Given the description of an element on the screen output the (x, y) to click on. 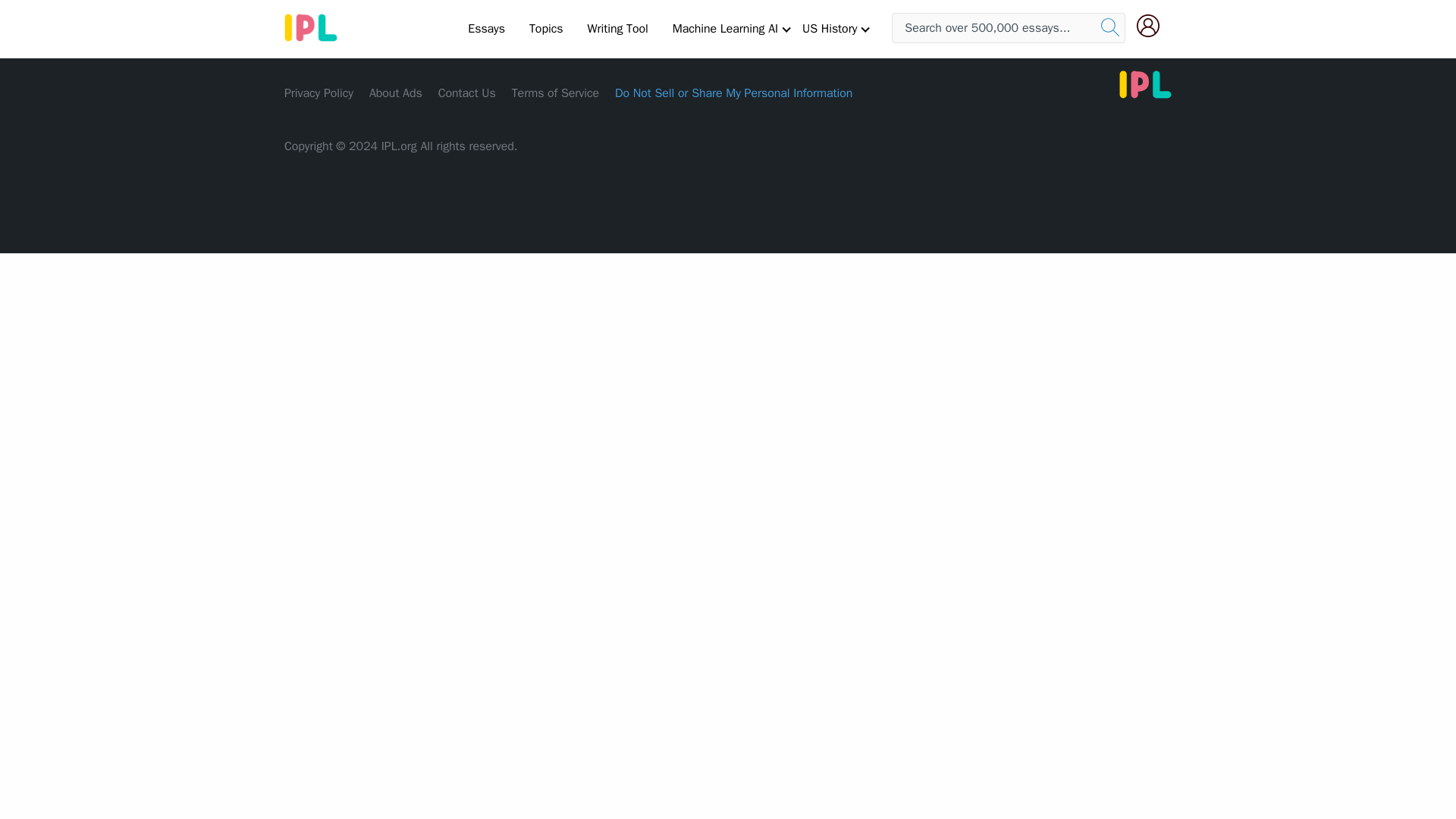
Privacy Policy (318, 92)
Terms of Service (555, 92)
Writing Tool (617, 28)
About Ads (395, 92)
Contact Us (467, 92)
Do Not Sell or Share My Personal Information (732, 92)
Privacy Policy (318, 92)
About Ads (395, 92)
Machine Learning AI (725, 28)
US History (829, 28)
